Given the description of an element on the screen output the (x, y) to click on. 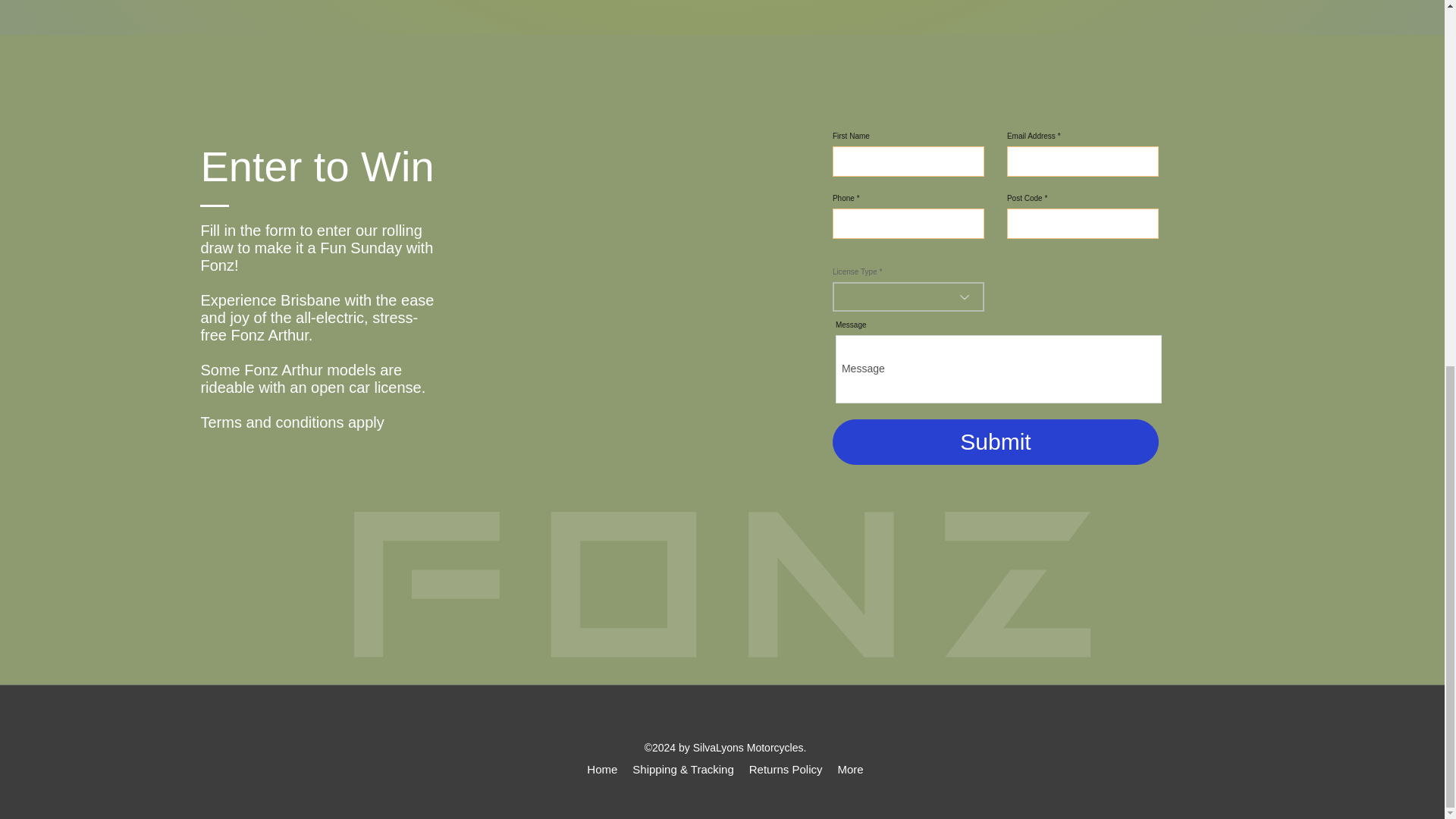
Submit (995, 442)
Returns Policy (785, 778)
Home (601, 778)
